Given the description of an element on the screen output the (x, y) to click on. 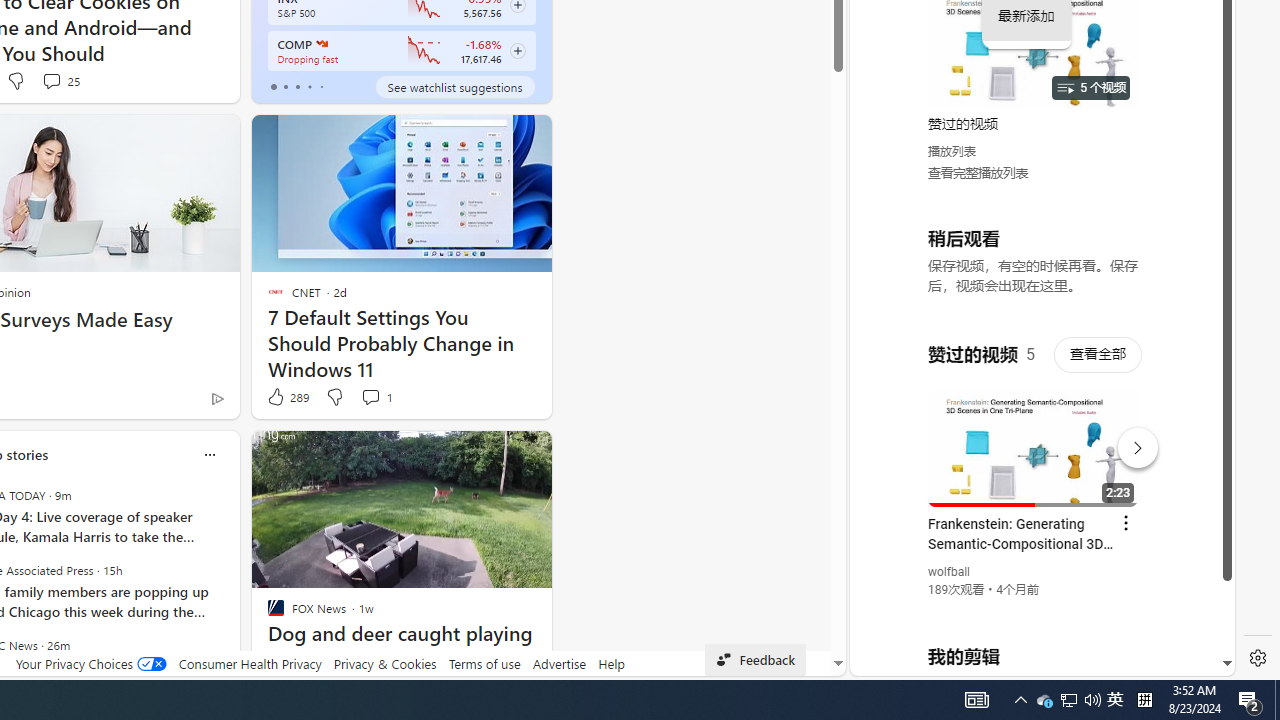
YouTube - YouTube (1034, 266)
tab-3 (309, 86)
US[ju] (917, 660)
next (229, 583)
wolfball (949, 572)
View comments 25 Comment (50, 80)
